Given the description of an element on the screen output the (x, y) to click on. 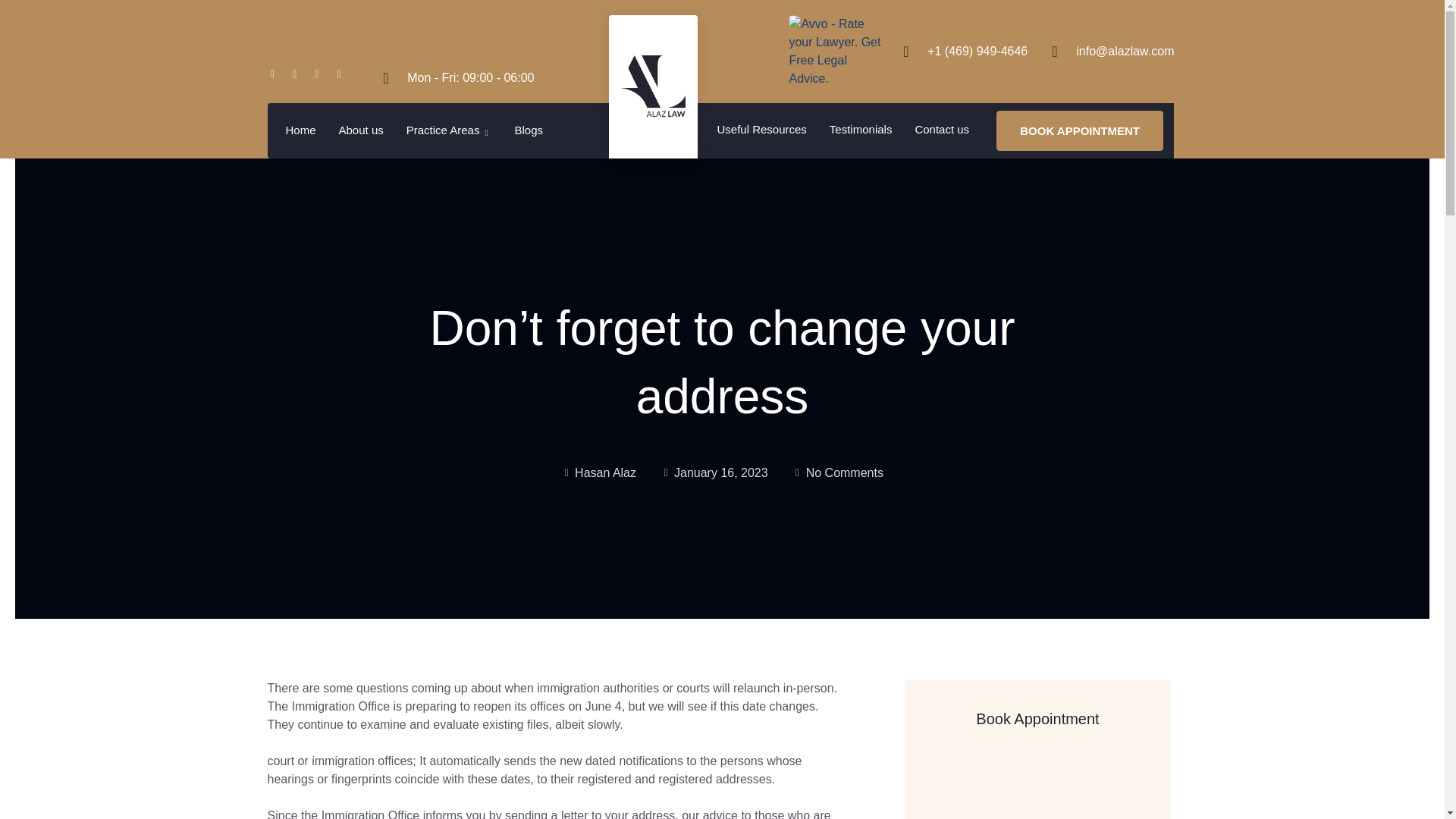
Blogs (528, 130)
About us (360, 130)
Instagram (342, 77)
Facebook (275, 77)
Practice Areas (448, 130)
Home (301, 130)
Linkedin-in (320, 77)
Twitter (298, 77)
